Given the description of an element on the screen output the (x, y) to click on. 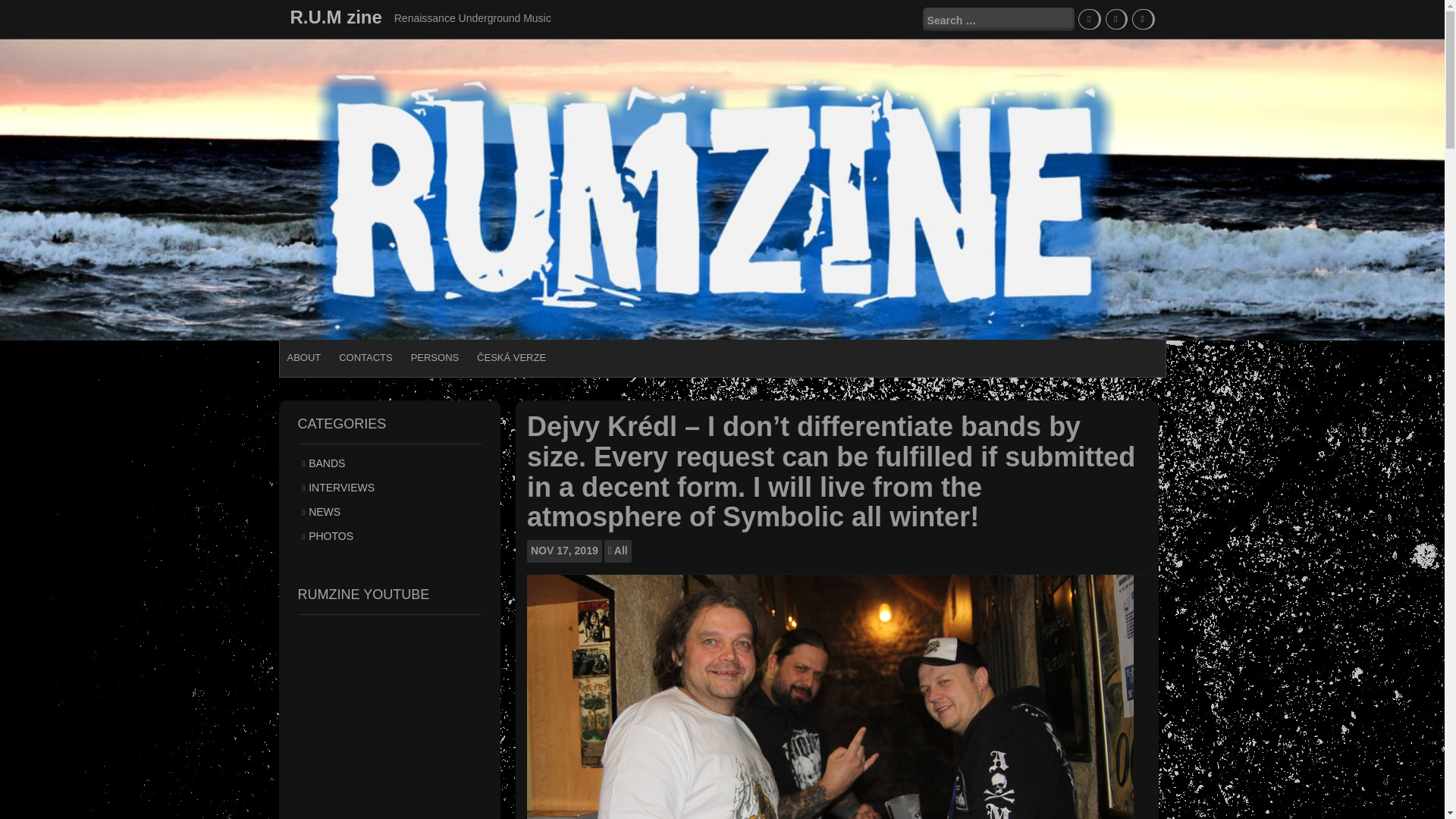
NEWS (324, 511)
PHOTOS (330, 535)
All (620, 550)
CONTACTS (365, 358)
INTERVIEWS (341, 487)
ABOUT (304, 358)
Search (24, 9)
BANDS (326, 463)
PERSONS (435, 358)
R.U.M zine (335, 16)
